Given the description of an element on the screen output the (x, y) to click on. 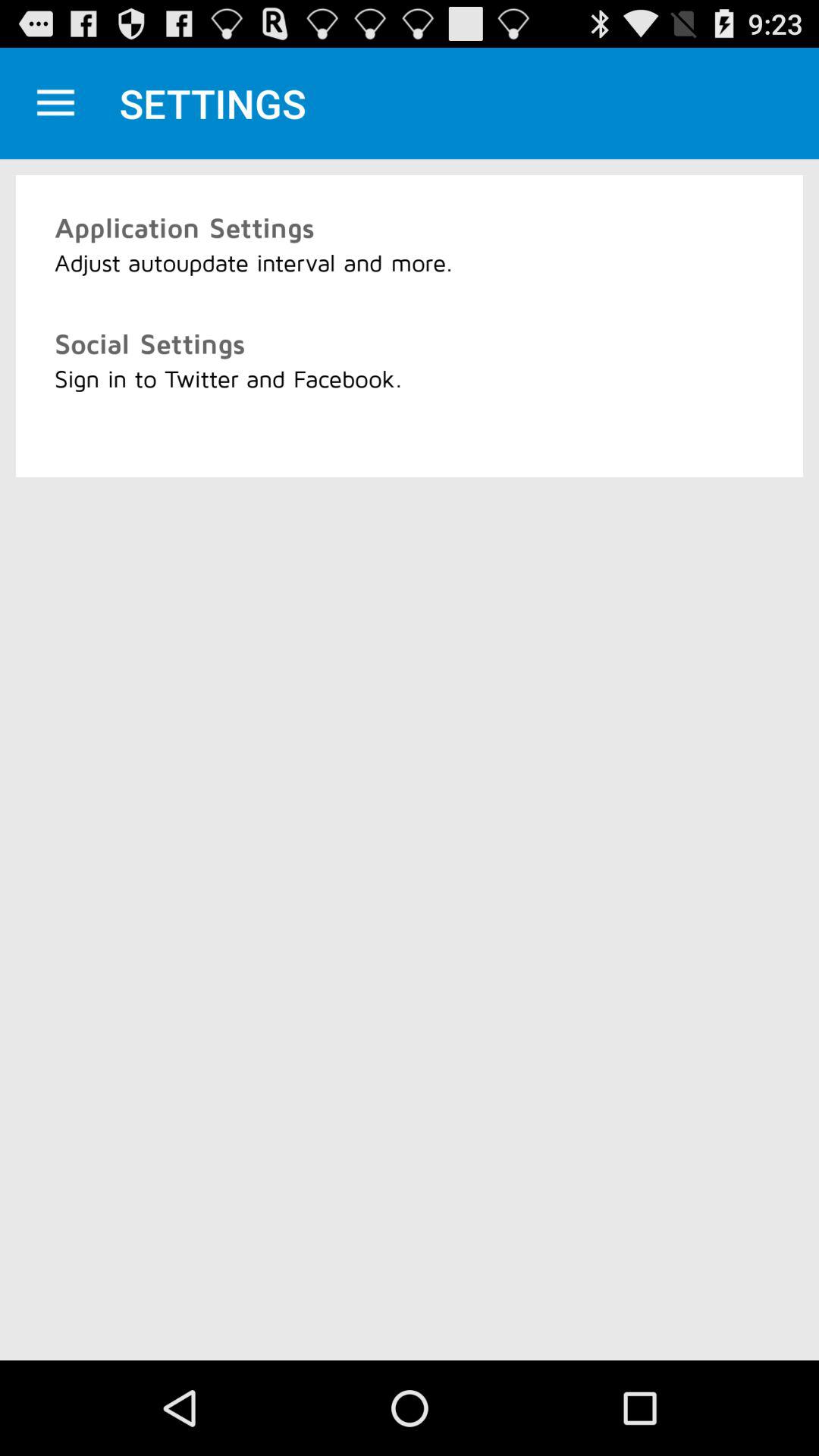
open app to the left of the settings app (55, 103)
